Given the description of an element on the screen output the (x, y) to click on. 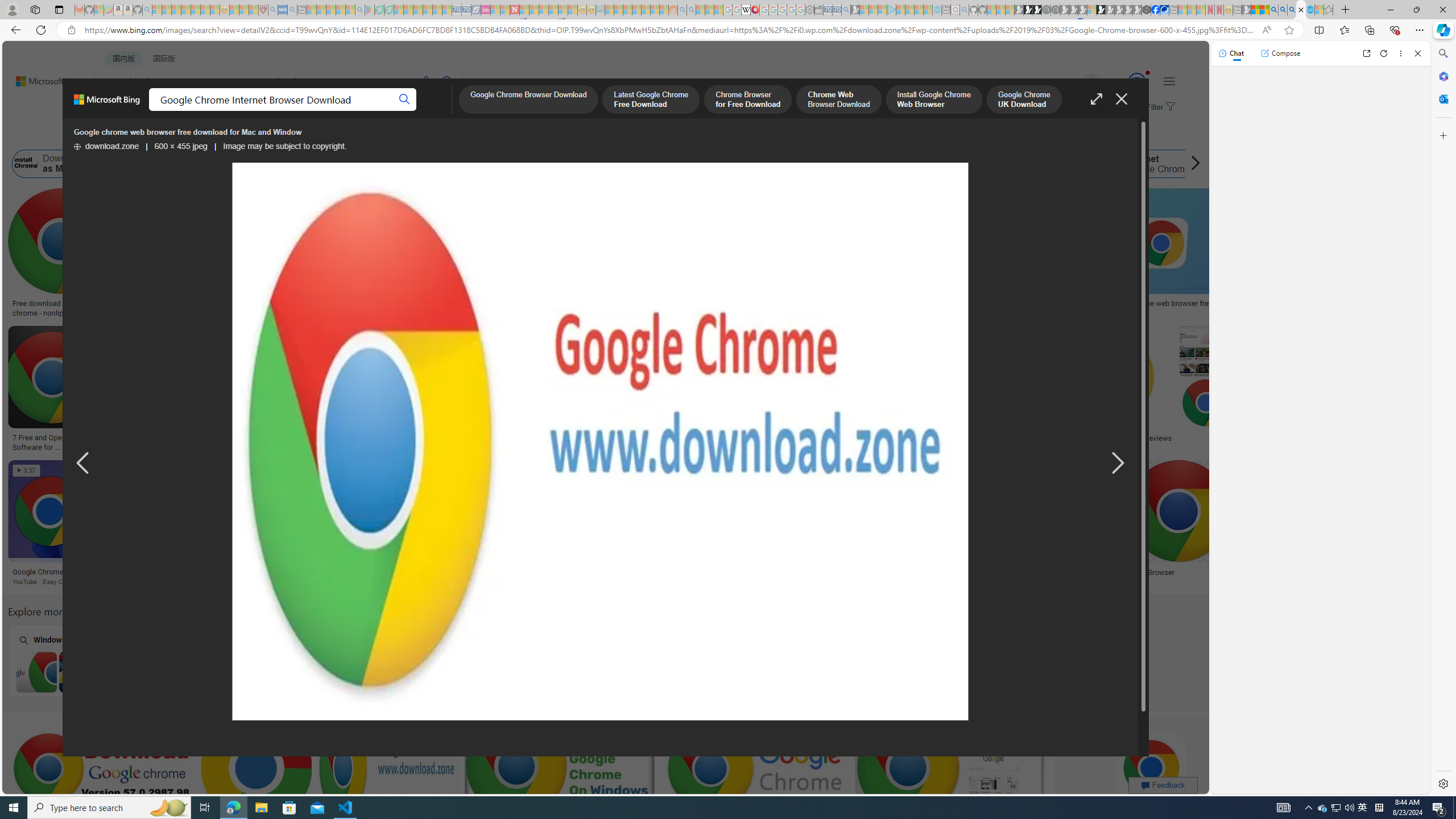
Class: item col (1147, 163)
download.zone (106, 146)
Nordace | Facebook (1154, 9)
Chrome Browser Download Windows 7 Windows 7 (78, 660)
Install Google Chrome Web Browser (649, 163)
